Given the description of an element on the screen output the (x, y) to click on. 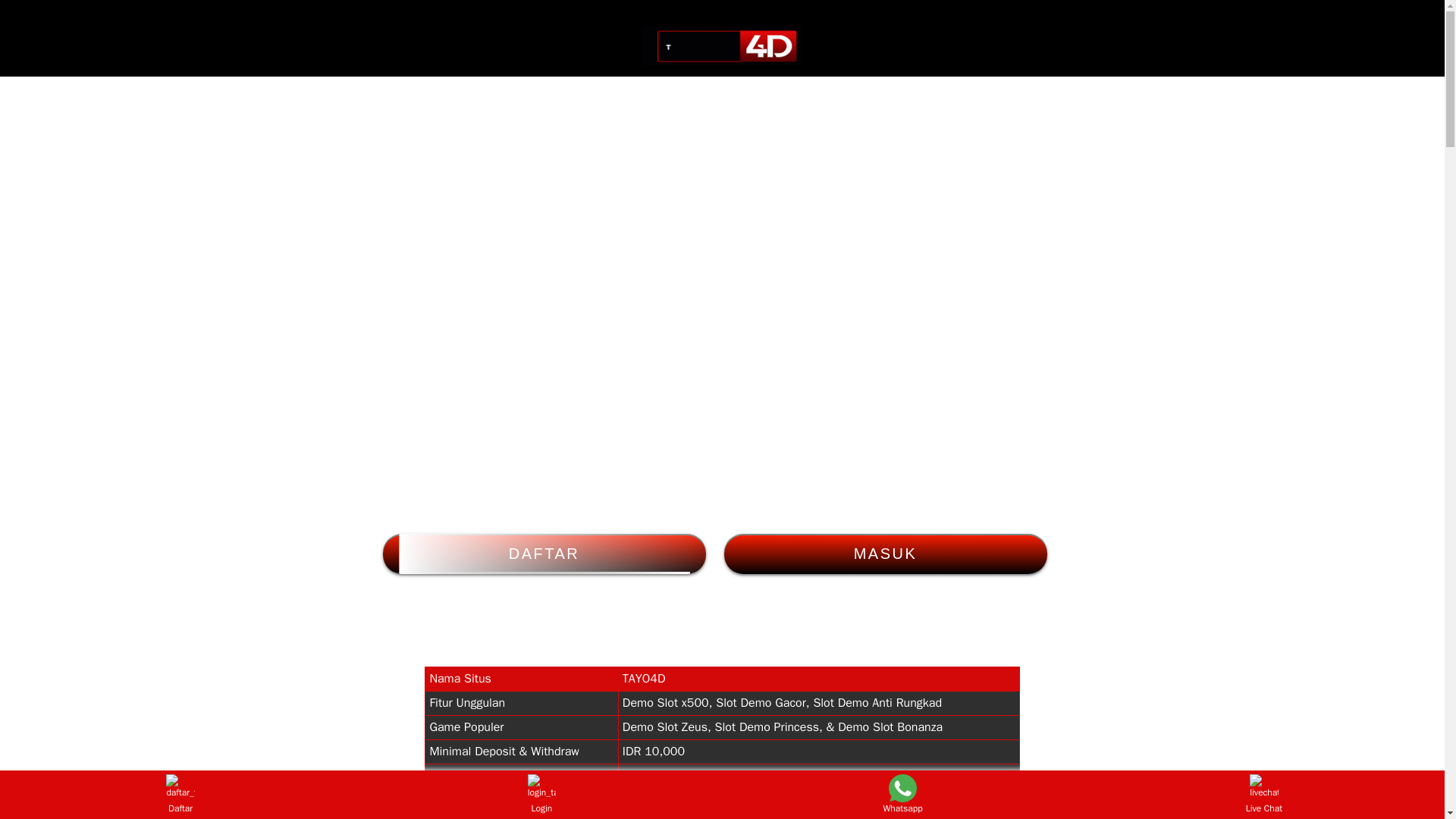
slot demo (722, 45)
MASUK (884, 553)
DAFTAR (542, 553)
